Given the description of an element on the screen output the (x, y) to click on. 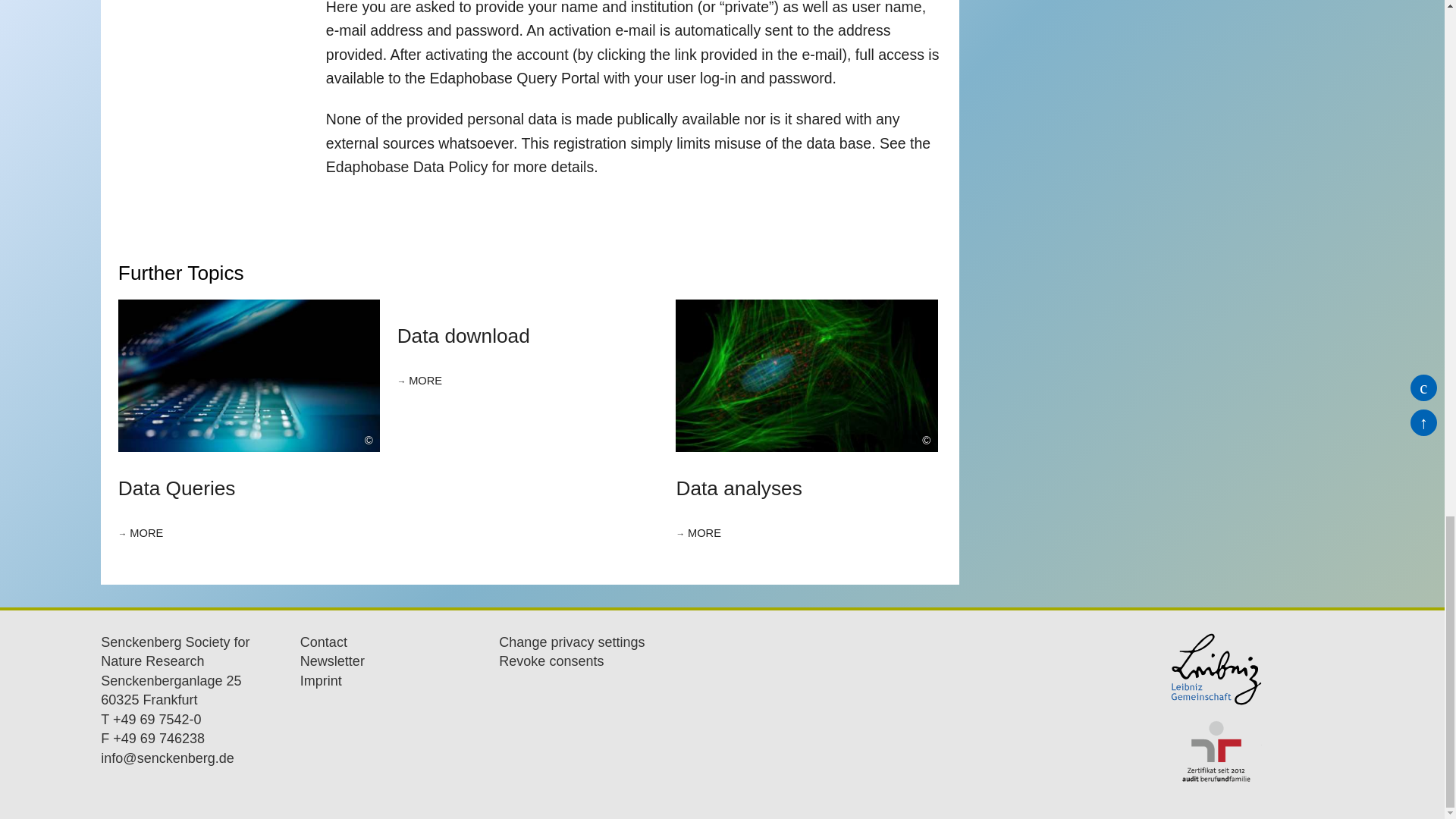
Leibnitz-Gemeinschaft (1256, 669)
